Given the description of an element on the screen output the (x, y) to click on. 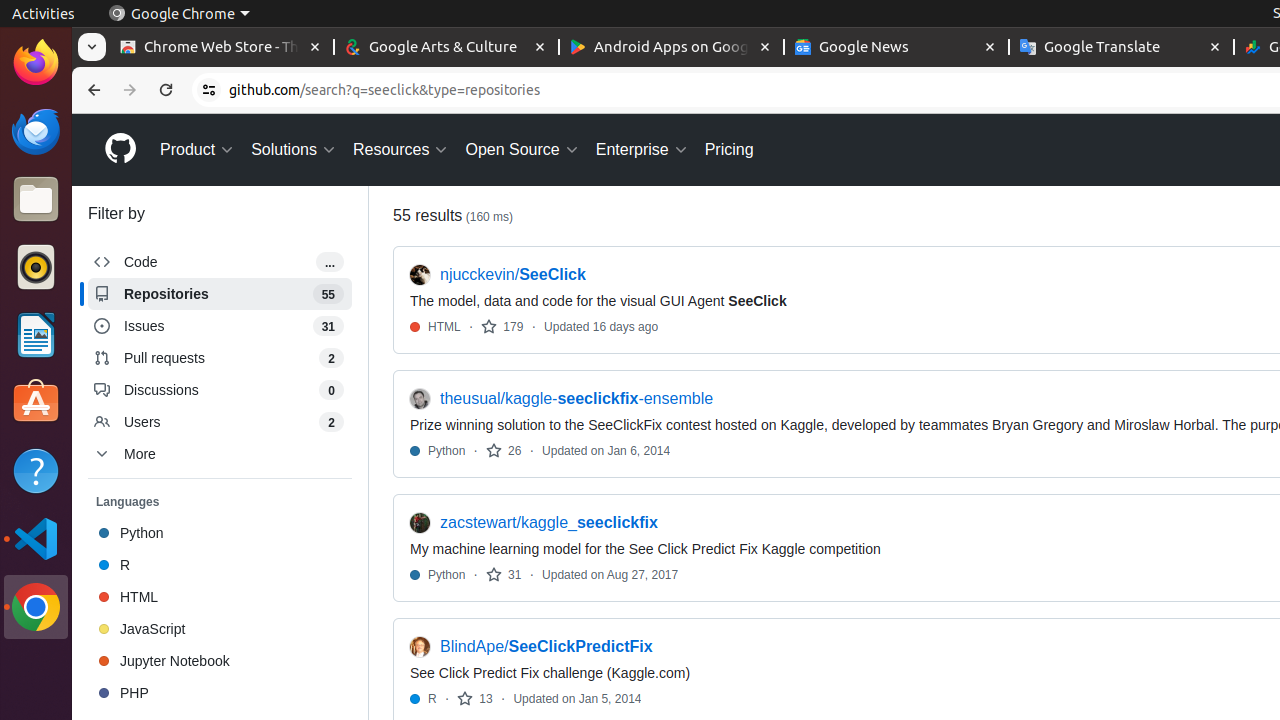
13 stars Element type: link (475, 698)
Enterprise Element type: push-button (642, 150)
Help Element type: push-button (36, 470)
‎Jupyter Notebook‎ Element type: link (220, 661)
‎PHP‎ Element type: link (220, 693)
